Given the description of an element on the screen output the (x, y) to click on. 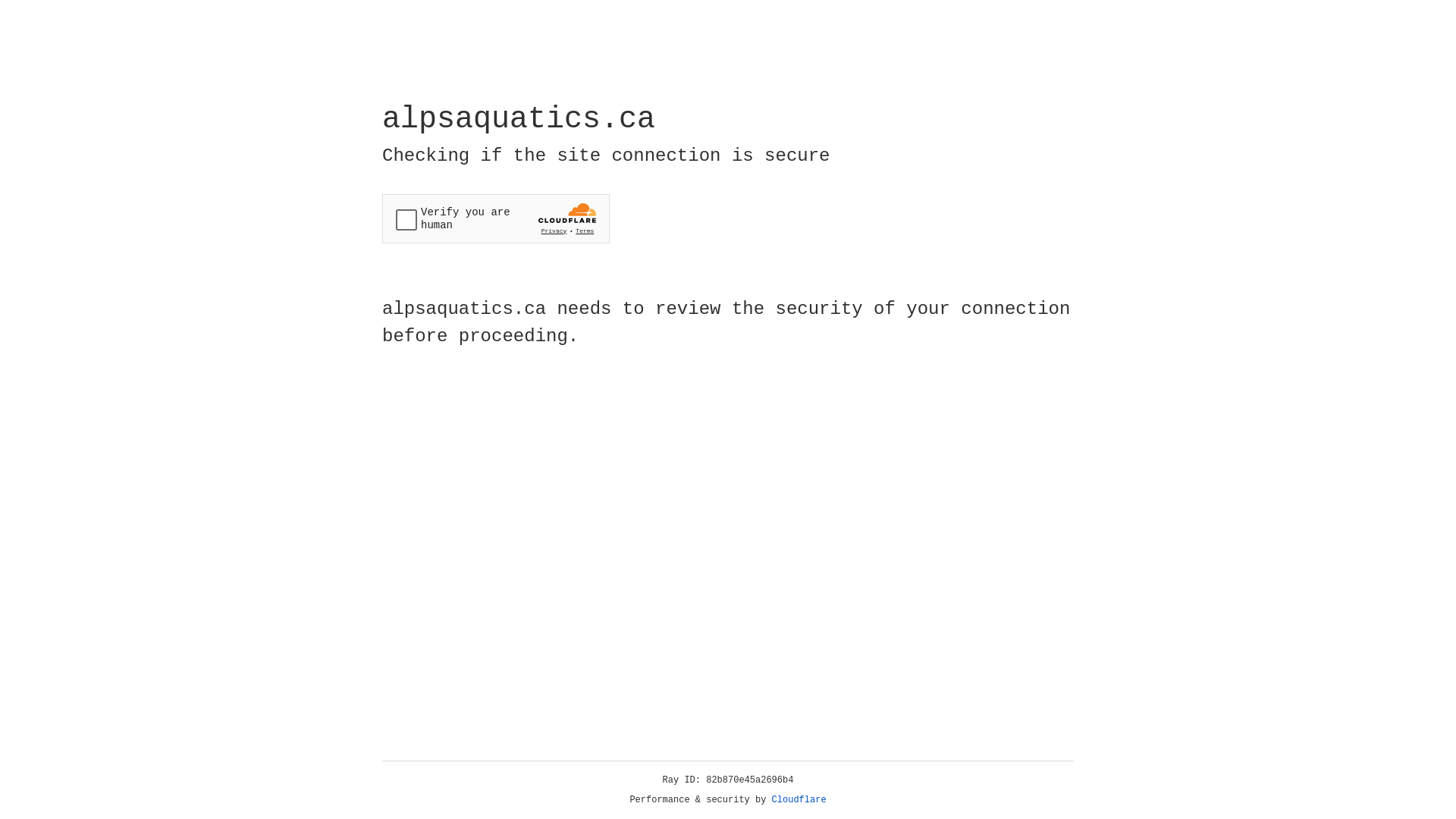
Widget containing a Cloudflare security challenge Element type: hover (495, 218)
Cloudflare Element type: text (798, 799)
